Given the description of an element on the screen output the (x, y) to click on. 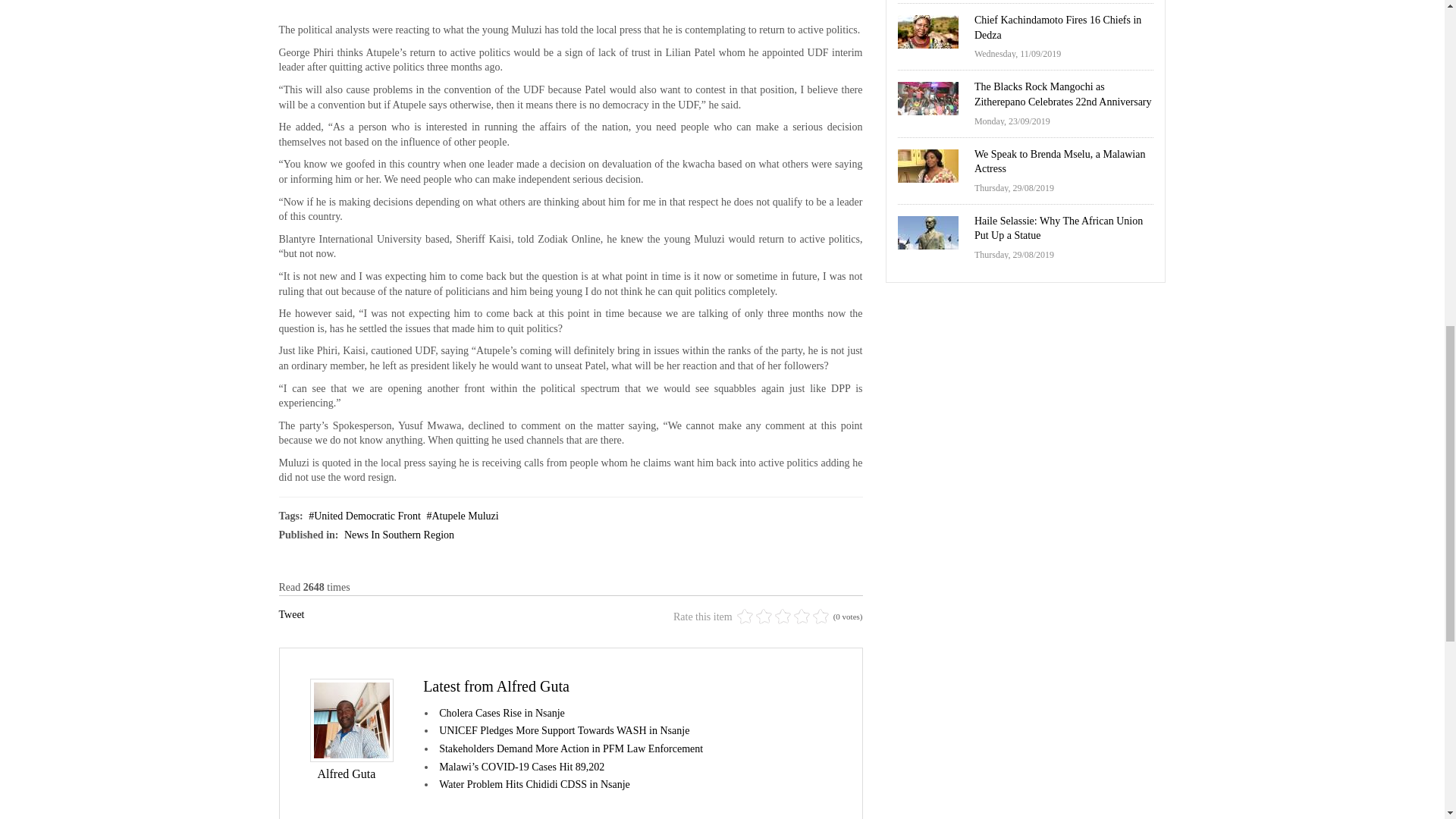
Tweet (291, 614)
5 (782, 616)
United Democratic Front (364, 515)
News In Southern Region (398, 534)
3 stars out of 5 (763, 616)
5 stars out of 5 (782, 616)
2 (754, 616)
1 (744, 616)
3 (763, 616)
Atupele Muluzi (461, 515)
4 stars out of 5 (772, 616)
1 star out of 5 (744, 616)
2 stars out of 5 (754, 616)
